Given the description of an element on the screen output the (x, y) to click on. 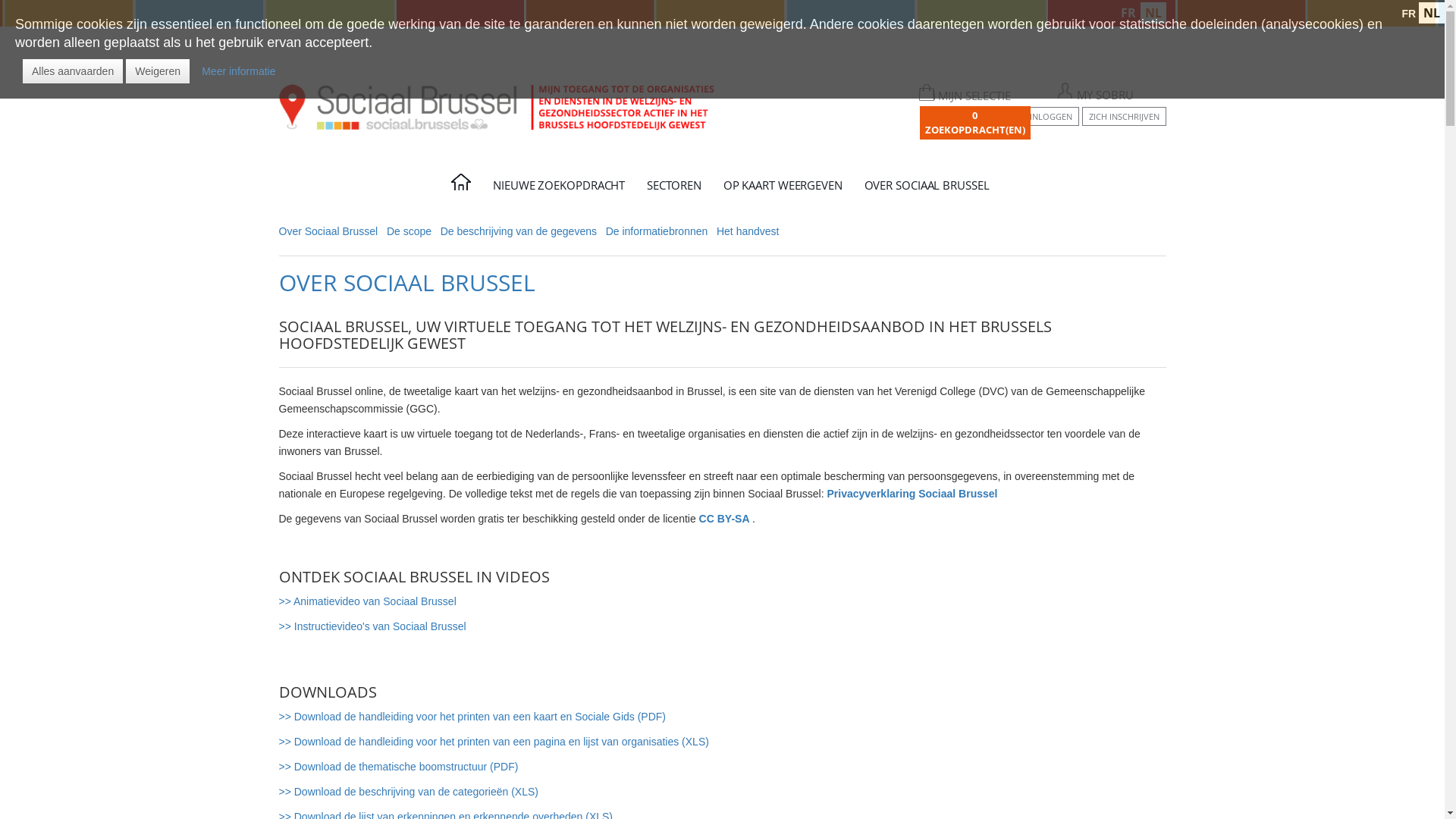
CC BY-SA Element type: text (725, 518)
OP KAART WEERGEVEN Element type: text (784, 189)
OVER SOCIAAL BRUSSEL Element type: text (407, 282)
0 ZOEKOPDRACHT(EN) Element type: text (974, 122)
Alles aanvaarden Element type: text (72, 71)
De beschrijving van de gegevens Element type: text (518, 231)
NIEUWE ZOEKOPDRACHT Element type: text (560, 189)
>> Animatievideo van Sociaal Brussel Element type: text (367, 601)
OVER SOCIAAL BRUSSEL Element type: text (928, 189)
Privacyverklaring Sociaal Brussel Element type: text (912, 493)
SECTOREN Element type: text (675, 189)
ZICH INSCHRIJVEN Element type: text (1123, 115)
Meer informatie Element type: text (238, 71)
Weigeren Element type: text (157, 71)
FR Element type: text (1128, 12)
>> Instructievideo's van Sociaal Brussel Element type: text (372, 626)
Het handvest Element type: text (747, 231)
De scope Element type: text (408, 231)
De informatiebronnen Element type: text (656, 231)
>> Download de thematische boomstructuur (PDF) Element type: text (398, 766)
INLOGGEN Element type: text (1050, 115)
Over Sociaal Brussel Element type: text (328, 231)
FR Element type: text (1408, 13)
